Given the description of an element on the screen output the (x, y) to click on. 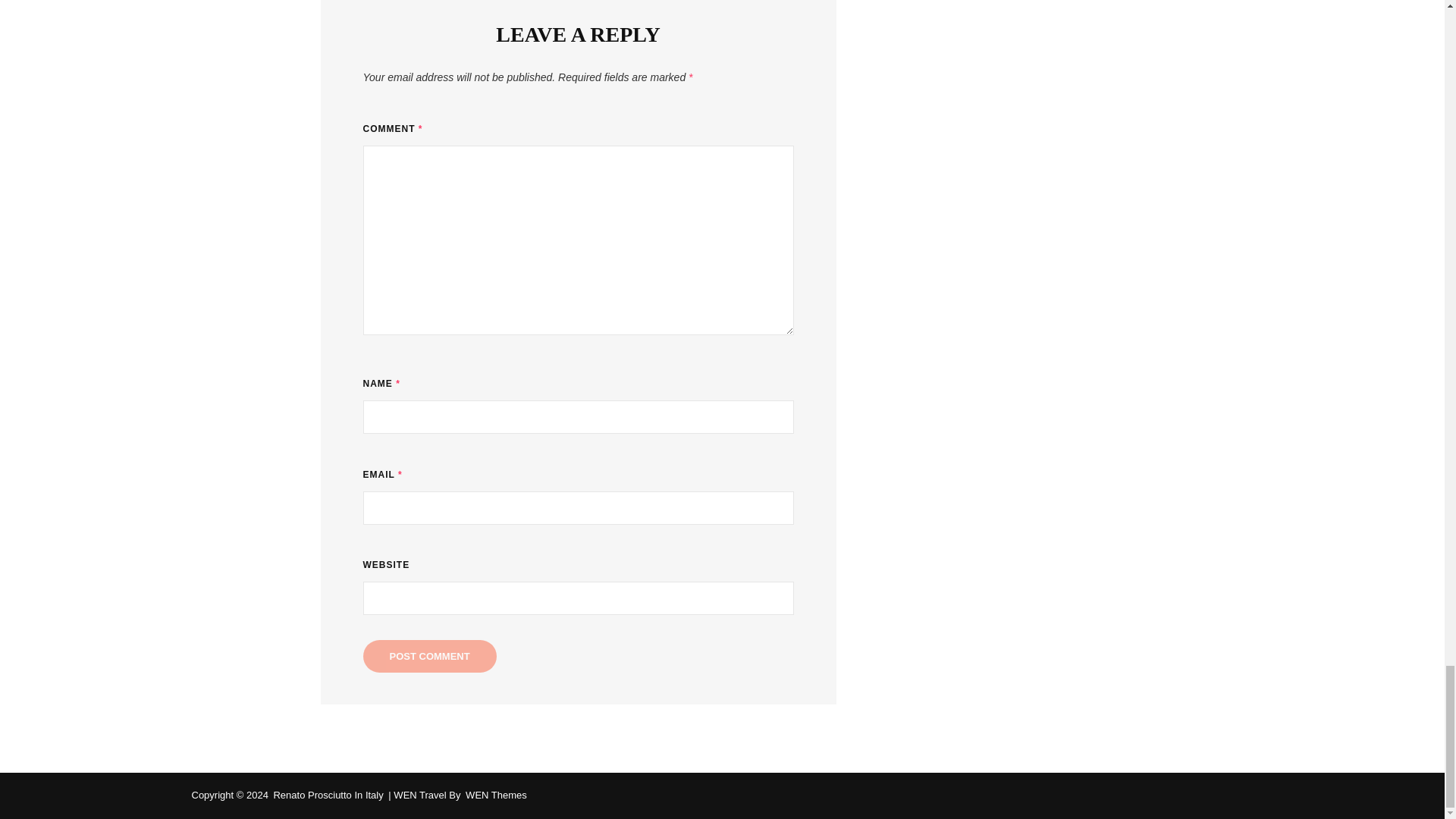
Post Comment (429, 655)
